Given the description of an element on the screen output the (x, y) to click on. 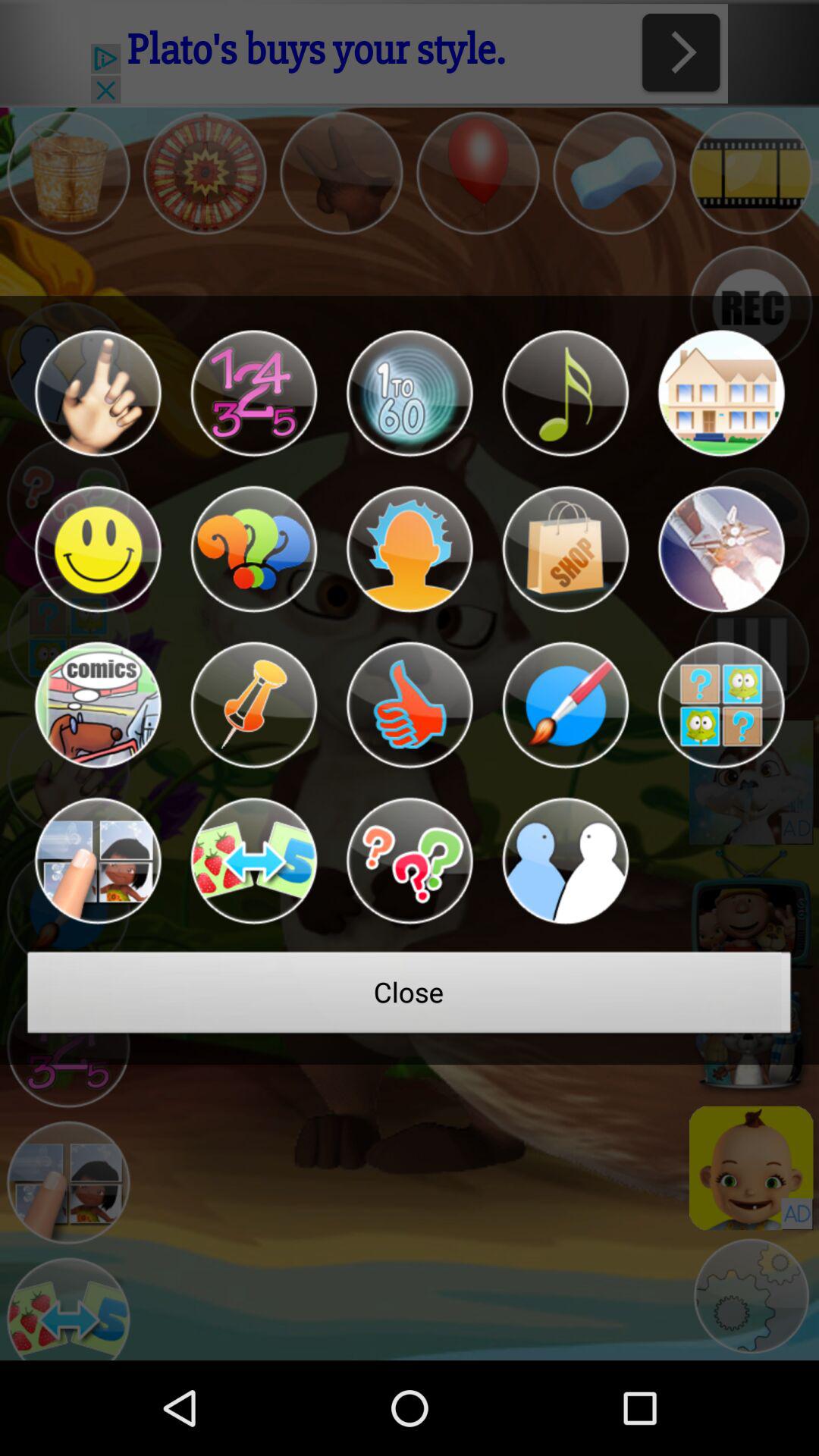
open the button above the close button (409, 861)
